Given the description of an element on the screen output the (x, y) to click on. 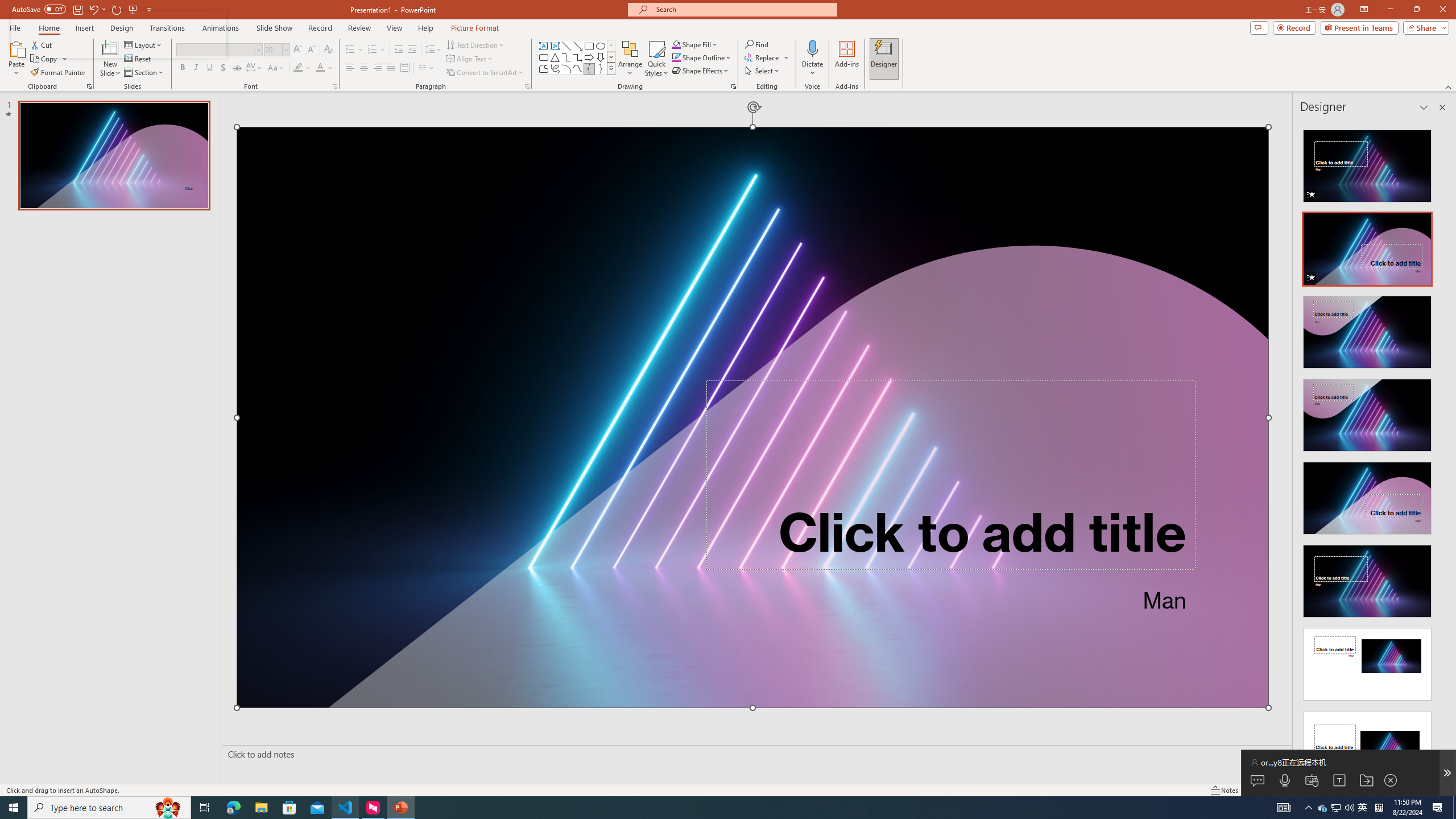
Quick Styles (656, 58)
Italic (195, 67)
Zoom Out (1366, 790)
Class: NetUIImage (610, 68)
Copy (49, 58)
Line Spacing (433, 49)
Justify (390, 67)
Font Size (276, 49)
Office Clipboard... (88, 85)
Present in Teams (1359, 27)
Microsoft search (742, 9)
Zoom (1379, 790)
AutomationID: ShapesInsertGallery (576, 57)
Select (762, 69)
